Given the description of an element on the screen output the (x, y) to click on. 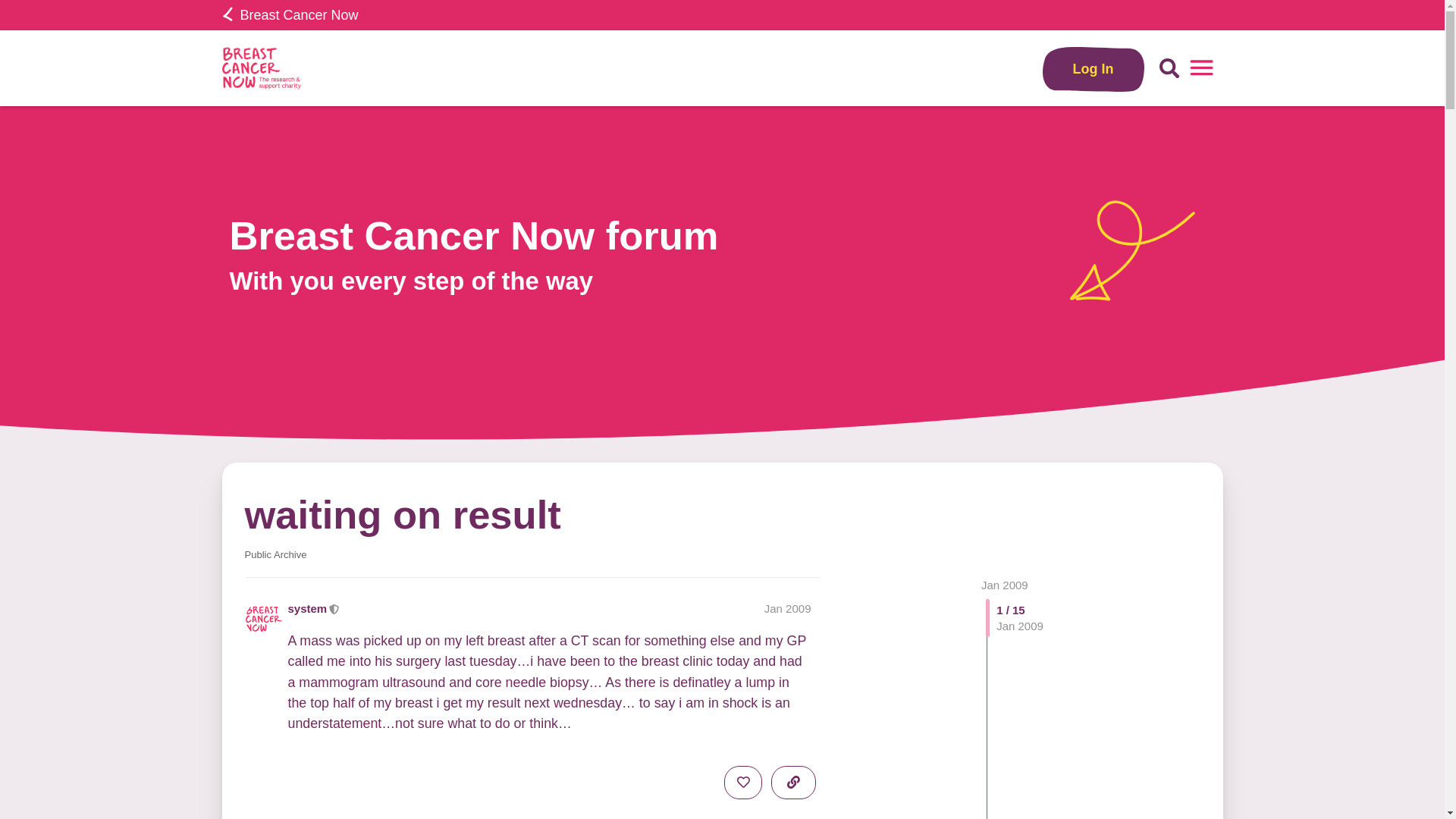
Breast Cancer Now (289, 15)
Post date (787, 608)
Jan 2009 (1004, 584)
menu (1201, 67)
system (307, 608)
Jan 2009 (1004, 584)
like this post (742, 782)
Log In (1093, 68)
Public Archive (274, 554)
Search (1169, 68)
Jan 2009 (787, 608)
Archived posts which are available to view. (274, 554)
waiting on result (402, 514)
copy a link to this post to clipboard (793, 782)
This user is a moderator (334, 608)
